Given the description of an element on the screen output the (x, y) to click on. 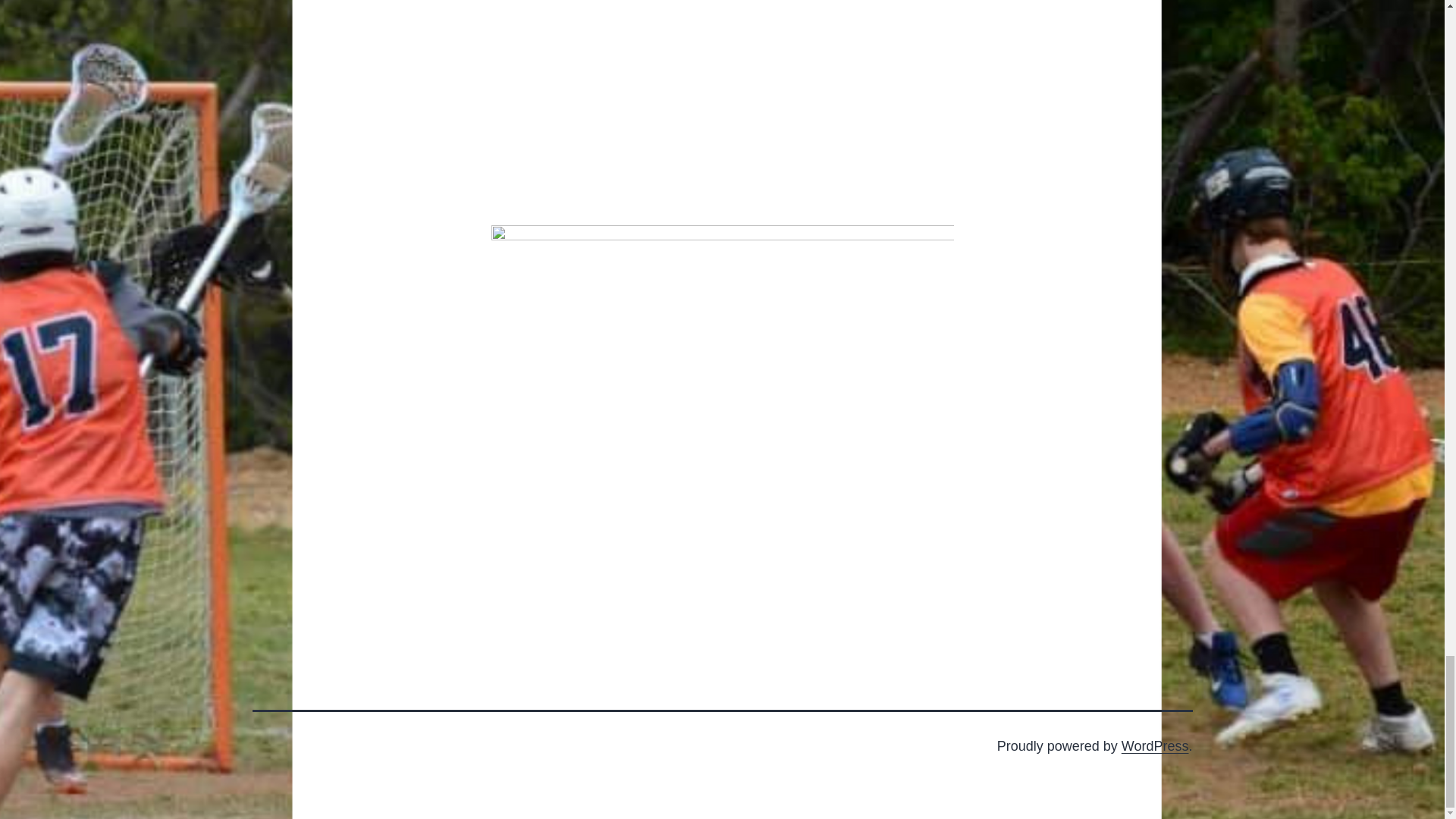
WordPress (1155, 745)
